Given the description of an element on the screen output the (x, y) to click on. 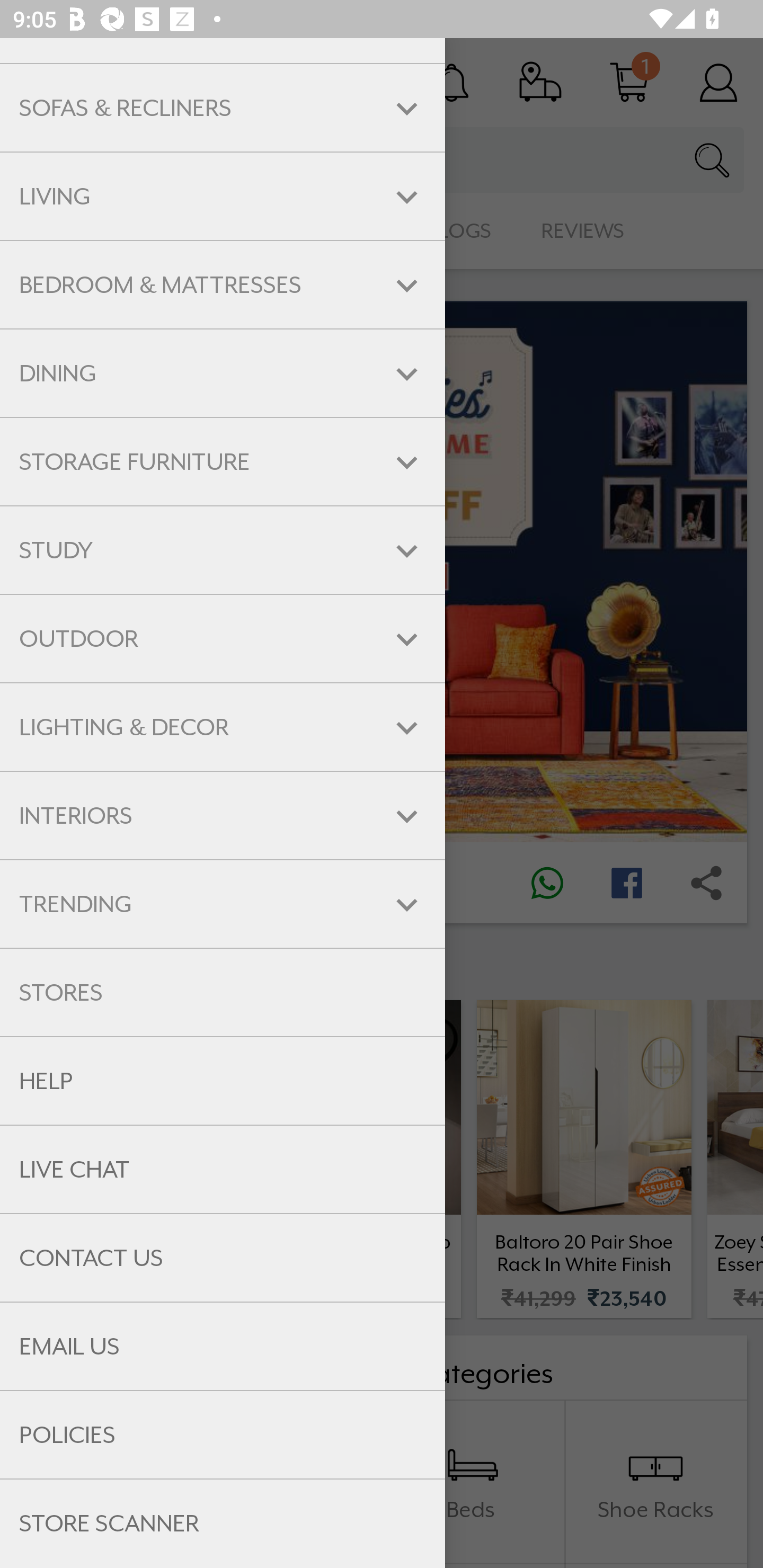
SOFAS & RECLINERS  (222, 108)
LIVING  (222, 196)
BEDROOM & MATTRESSES  (222, 284)
DINING  (222, 373)
STORAGE FURNITURE  (222, 461)
STUDY  (222, 550)
OUTDOOR  (222, 638)
LIGHTING & DECOR  (222, 726)
INTERIORS  (222, 815)
TRENDING  (222, 903)
STORES (222, 992)
HELP (222, 1080)
LIVE CHAT (222, 1169)
CONTACT US (222, 1258)
EMAIL US (222, 1345)
POLICIES (222, 1435)
STORE SCANNER (222, 1523)
